Given the description of an element on the screen output the (x, y) to click on. 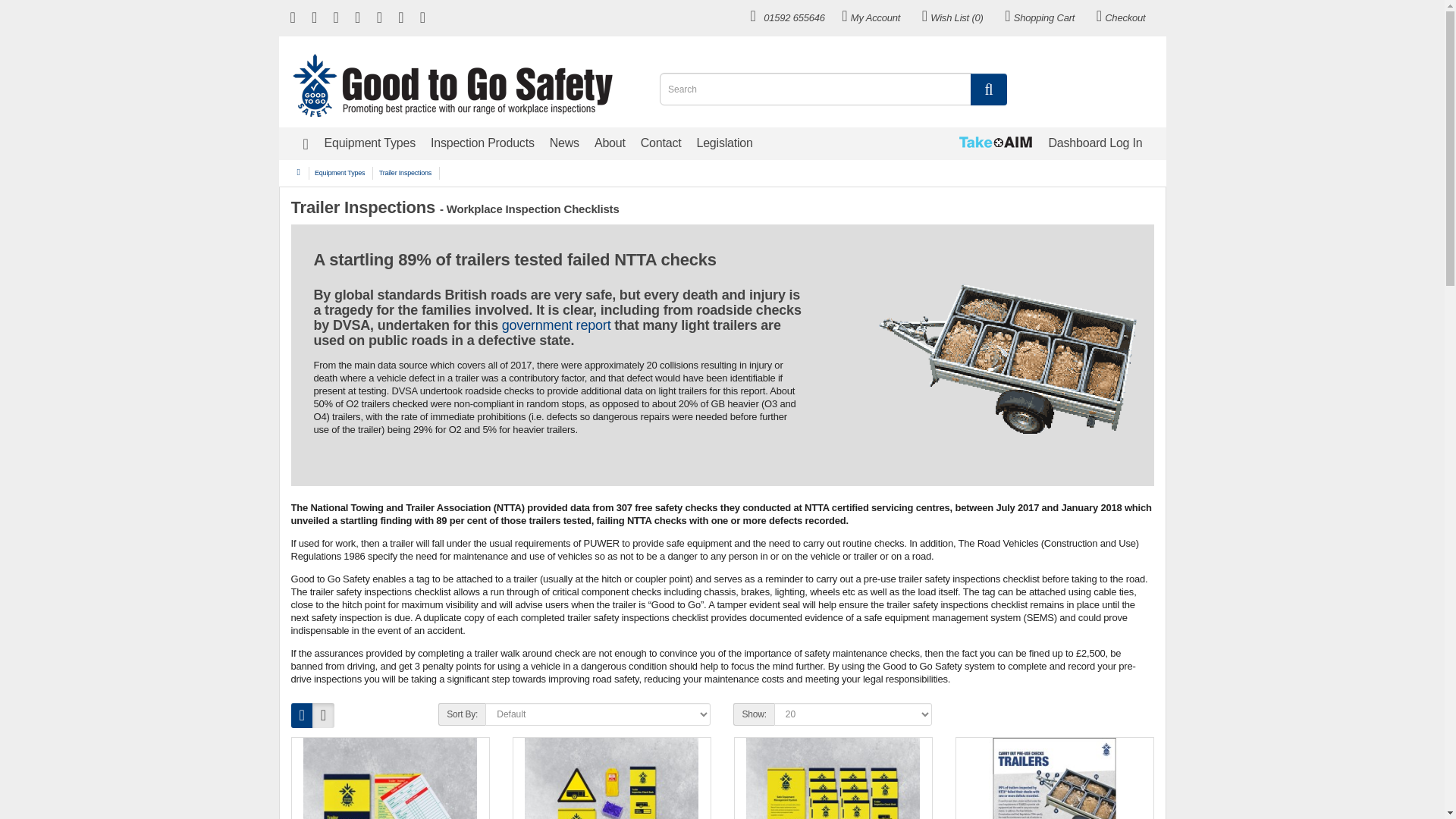
Shopping Cart (1038, 17)
Shopping Cart (1038, 17)
Good to Go Safety (451, 85)
Checkout (1120, 17)
Equipment Types (370, 142)
Search (988, 88)
Go back to the home page (454, 85)
Checkout (1120, 17)
My Account (869, 17)
Equipment Types (370, 142)
